Given the description of an element on the screen output the (x, y) to click on. 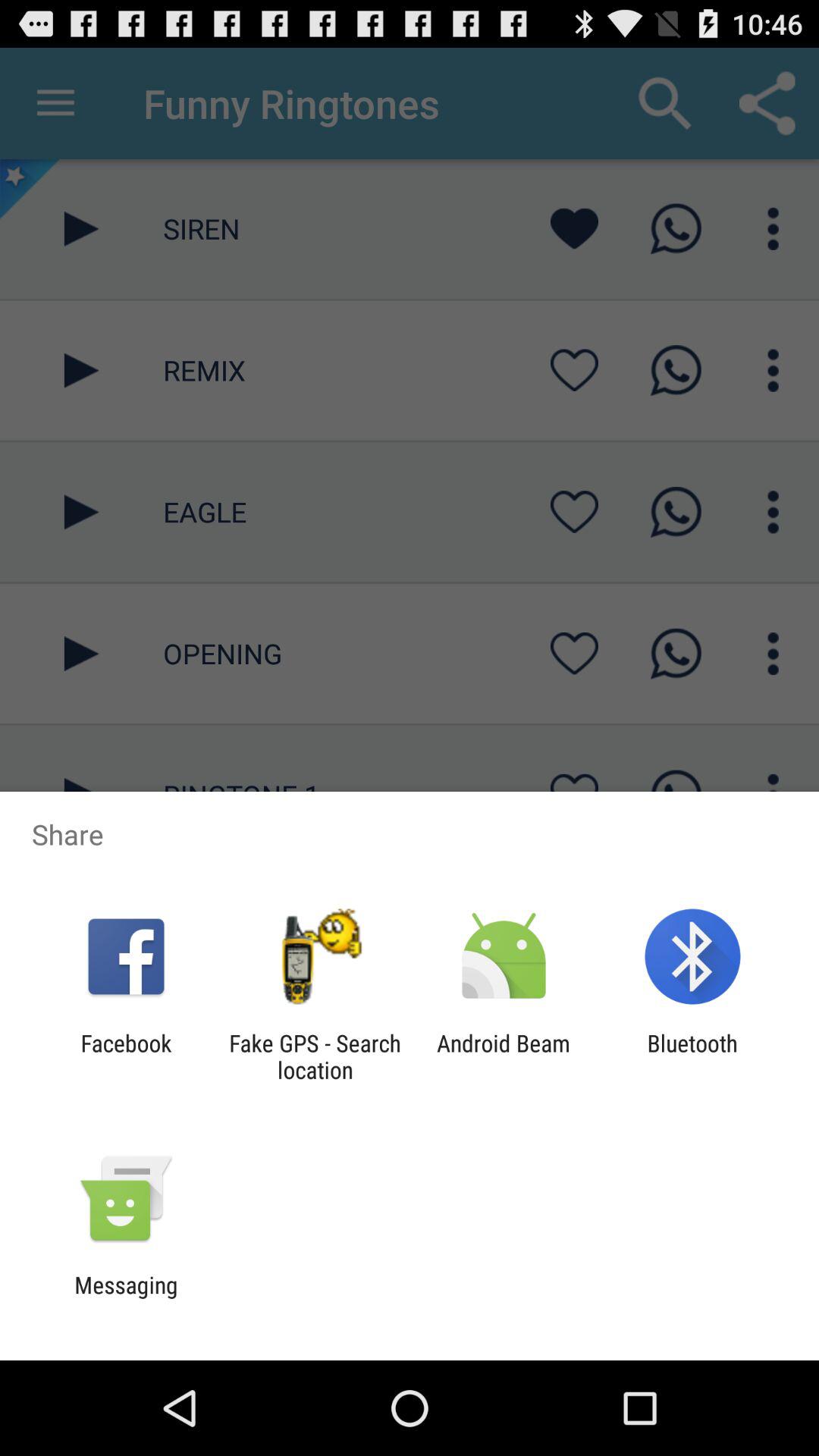
tap the item to the right of facebook icon (314, 1056)
